Given the description of an element on the screen output the (x, y) to click on. 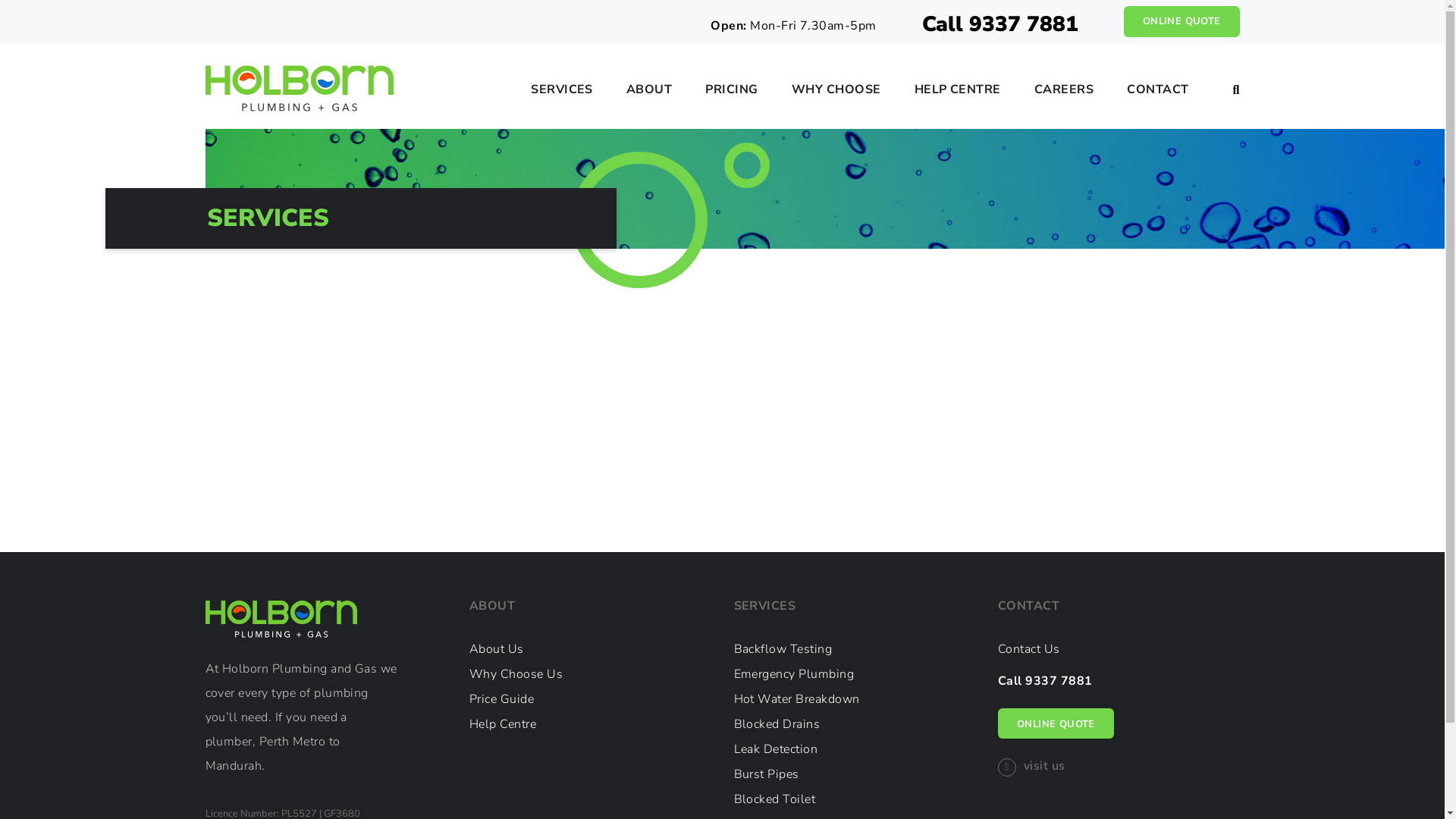
WHY CHOOSE Element type: text (836, 93)
Leak Detection Element type: text (776, 749)
Why Choose Us Element type: text (515, 674)
SERVICES Element type: text (561, 93)
Blocked Drains Element type: text (777, 724)
About Us Element type: text (496, 649)
Backflow Testing Element type: text (783, 649)
ONLINE QUOTE Element type: text (1055, 723)
CAREERS Element type: text (1063, 93)
Emergency Plumbing Element type: text (794, 674)
CONTACT Element type: text (1157, 93)
PRICING Element type: text (731, 93)
Burst Pipes Element type: text (766, 774)
ONLINE QUOTE Element type: text (1181, 21)
Price Guide Element type: text (501, 699)
visit us Element type: text (1031, 765)
ABOUT Element type: text (648, 93)
HELP CENTRE Element type: text (957, 93)
Blocked Toilet Element type: text (774, 799)
Call 9337 7881 Element type: text (1044, 680)
Call 9337 7881 Element type: text (1000, 23)
Hot Water Breakdown Element type: text (796, 699)
Help Centre Element type: text (502, 724)
Contact Us Element type: text (1028, 649)
